Given the description of an element on the screen output the (x, y) to click on. 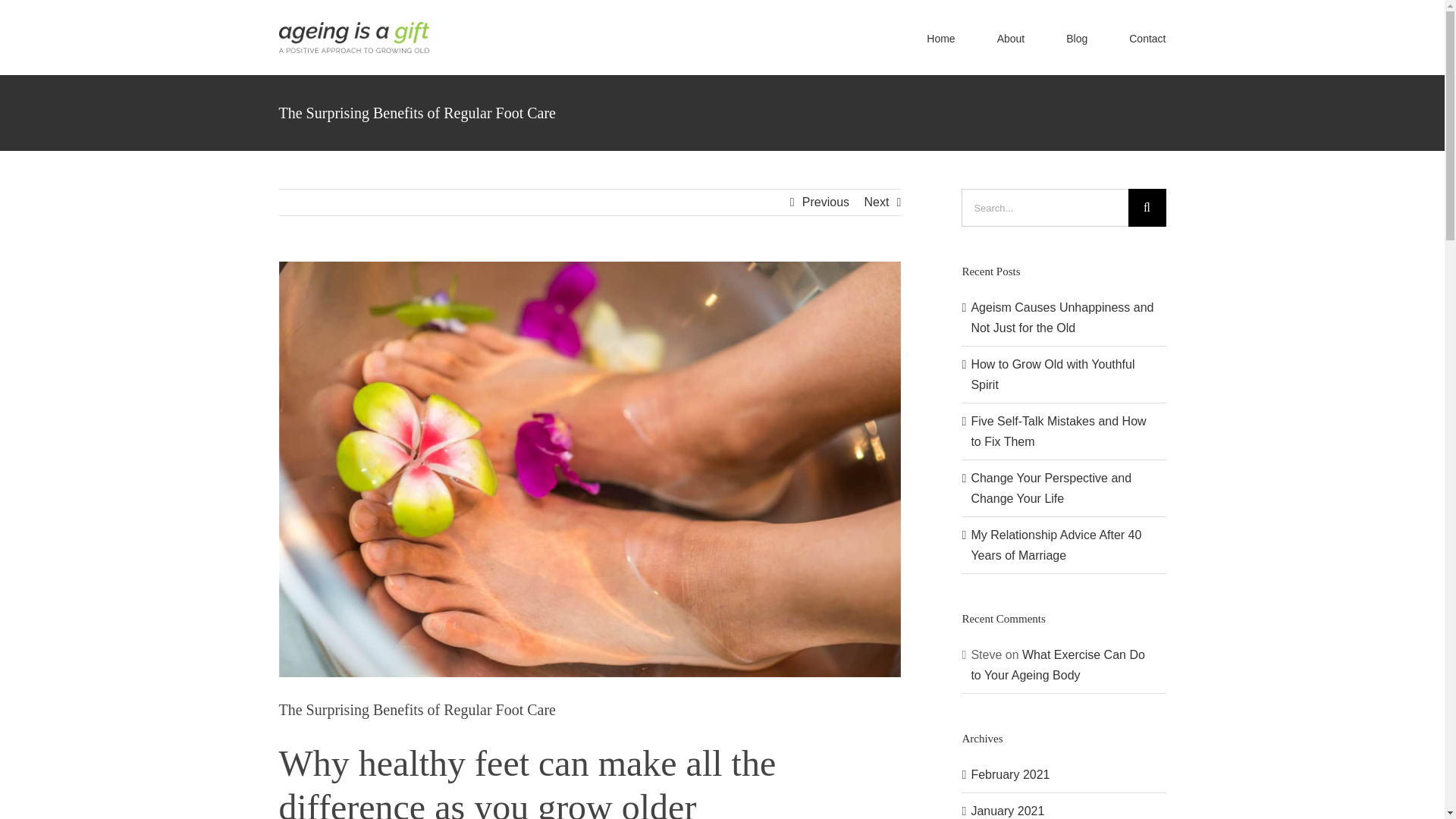
My Relationship Advice After 40 Years of Marriage (1056, 544)
Ageism Causes Unhappiness and Not Just for the Old (1062, 317)
January 2021 (1007, 810)
Blog (1076, 37)
Five Self-Talk Mistakes and How to Fix Them (1058, 430)
What Exercise Can Do to Your Ageing Body (1057, 664)
Change Your Perspective and Change Your Life (1051, 488)
Contact (1147, 37)
About (1011, 37)
Next (875, 202)
How to Grow Old with Youthful Spirit (1052, 374)
Home (940, 37)
Previous (825, 202)
February 2021 (1010, 774)
